Given the description of an element on the screen output the (x, y) to click on. 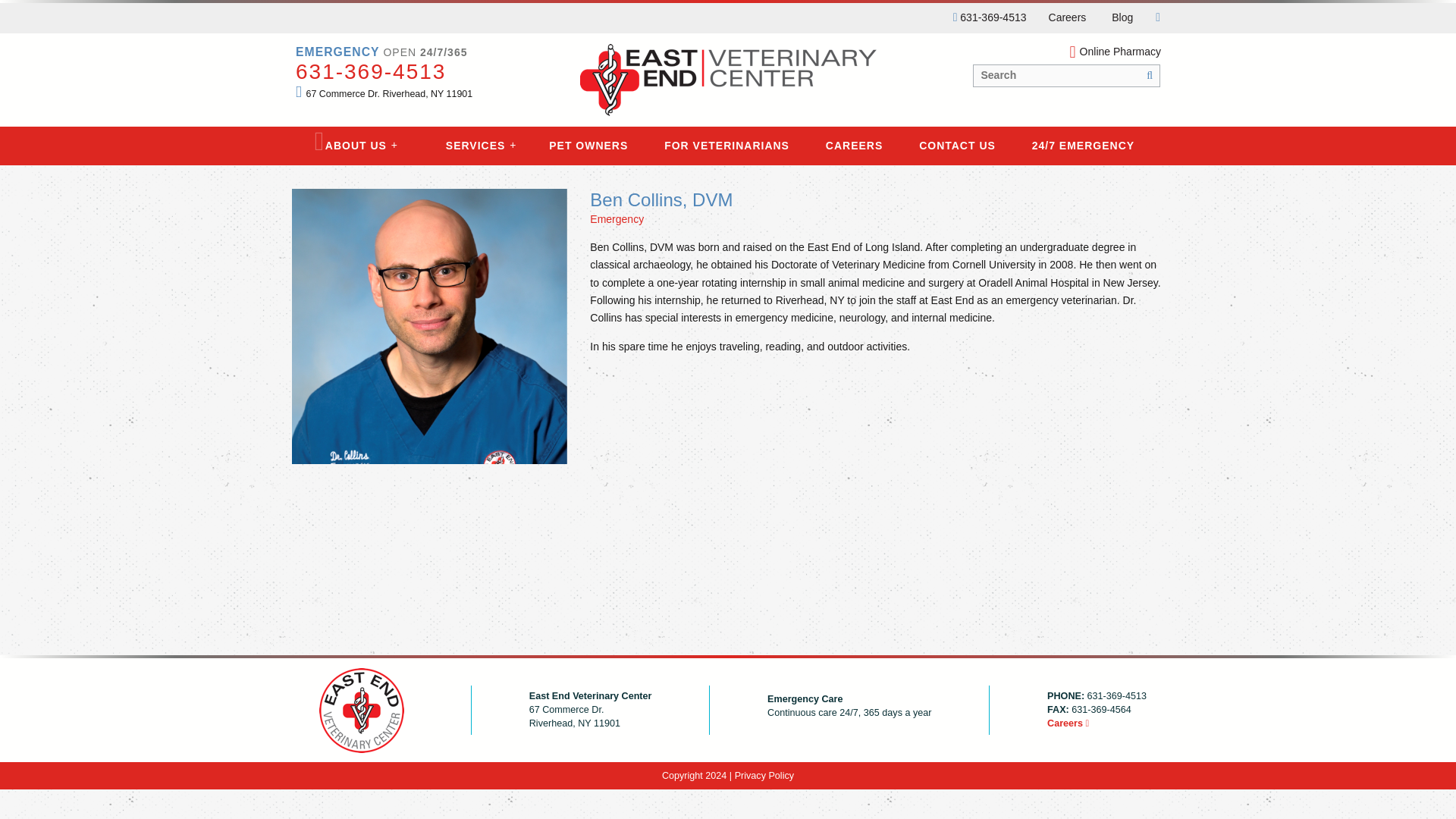
Blog (1122, 18)
Online Pharmacy (1066, 52)
FOR VETERINARIANS (726, 145)
Careers (1066, 18)
PET OWNERS (588, 145)
Pet Owners (588, 145)
Blog (1122, 18)
The Whole Team (335, 161)
Services (475, 145)
ABOUT US (355, 145)
Careers (1096, 724)
631-369-4513 (992, 17)
For Veterinarians (726, 145)
type something... (1066, 75)
Careers (1066, 18)
